Given the description of an element on the screen output the (x, y) to click on. 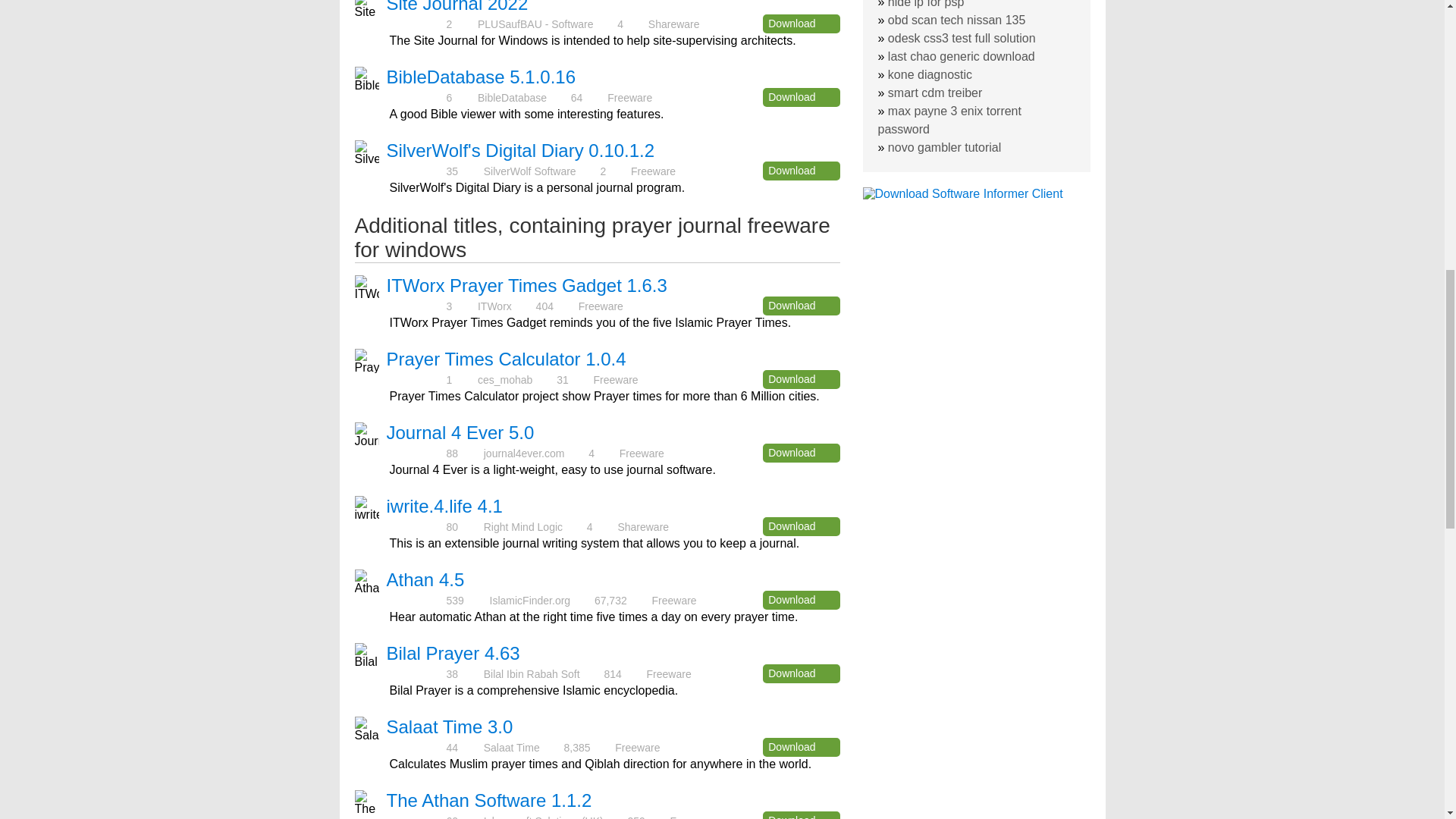
Journal 4 Ever 5.0 (460, 432)
ITWorx Prayer Times Gadget 1.6.3 (526, 285)
Bilal Prayer 4.63 (453, 652)
Download (801, 23)
3.5 (415, 97)
Download (801, 526)
Download (801, 170)
4.1 (415, 452)
Athan 4.5 (425, 579)
iwrite.4.life 4.1 (444, 506)
